Given the description of an element on the screen output the (x, y) to click on. 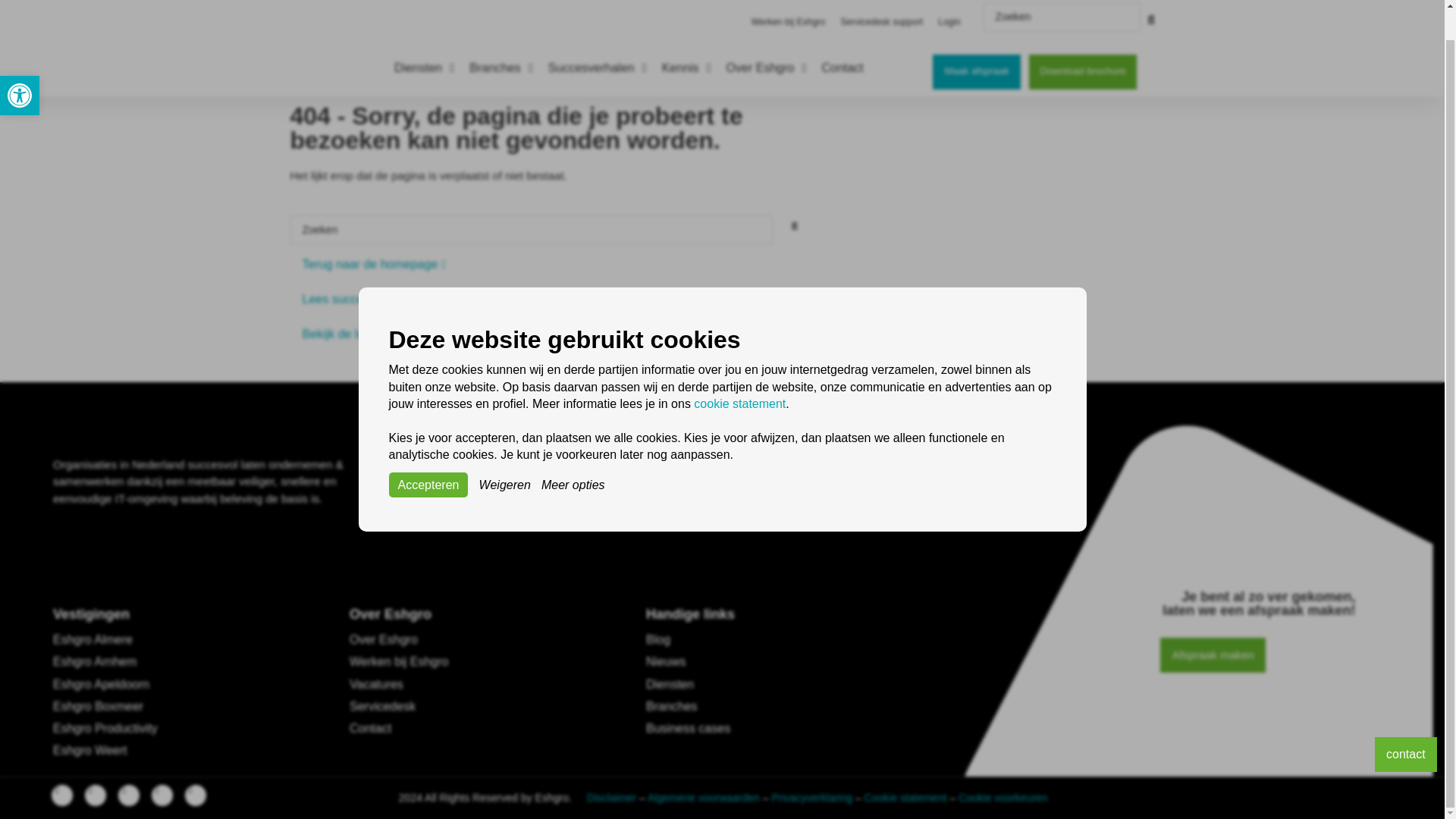
Toegankelijkheid gereedschappen (19, 64)
Toegankelijkheid gereedschappen (19, 64)
Werken bij Eshgro (788, 4)
Login (949, 4)
Servicedesk support (881, 4)
Diensten (19, 64)
